Given the description of an element on the screen output the (x, y) to click on. 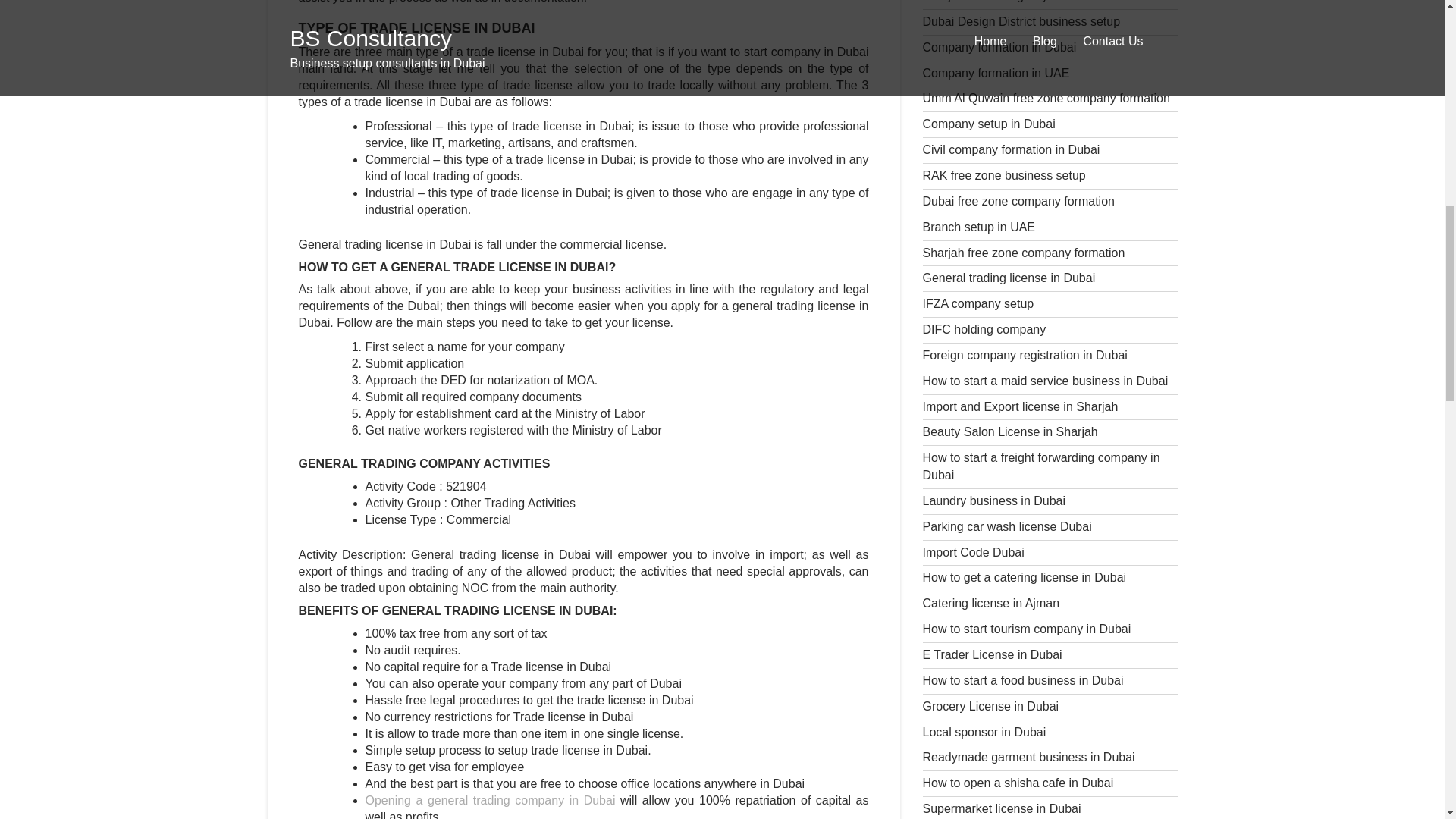
Sharjah Publishing City free zone (1011, 1)
Company setup in Dubai (987, 123)
Dubai Design District business setup (1020, 21)
DIFC holding company (983, 328)
Company formation in UAE (994, 72)
Branch setup in UAE (978, 226)
Foreign company registration in Dubai (1023, 354)
Civil company formation in Dubai (1010, 149)
Umm Al Quwain free zone company formation (1045, 97)
General trading license in Dubai (1007, 277)
